Given the description of an element on the screen output the (x, y) to click on. 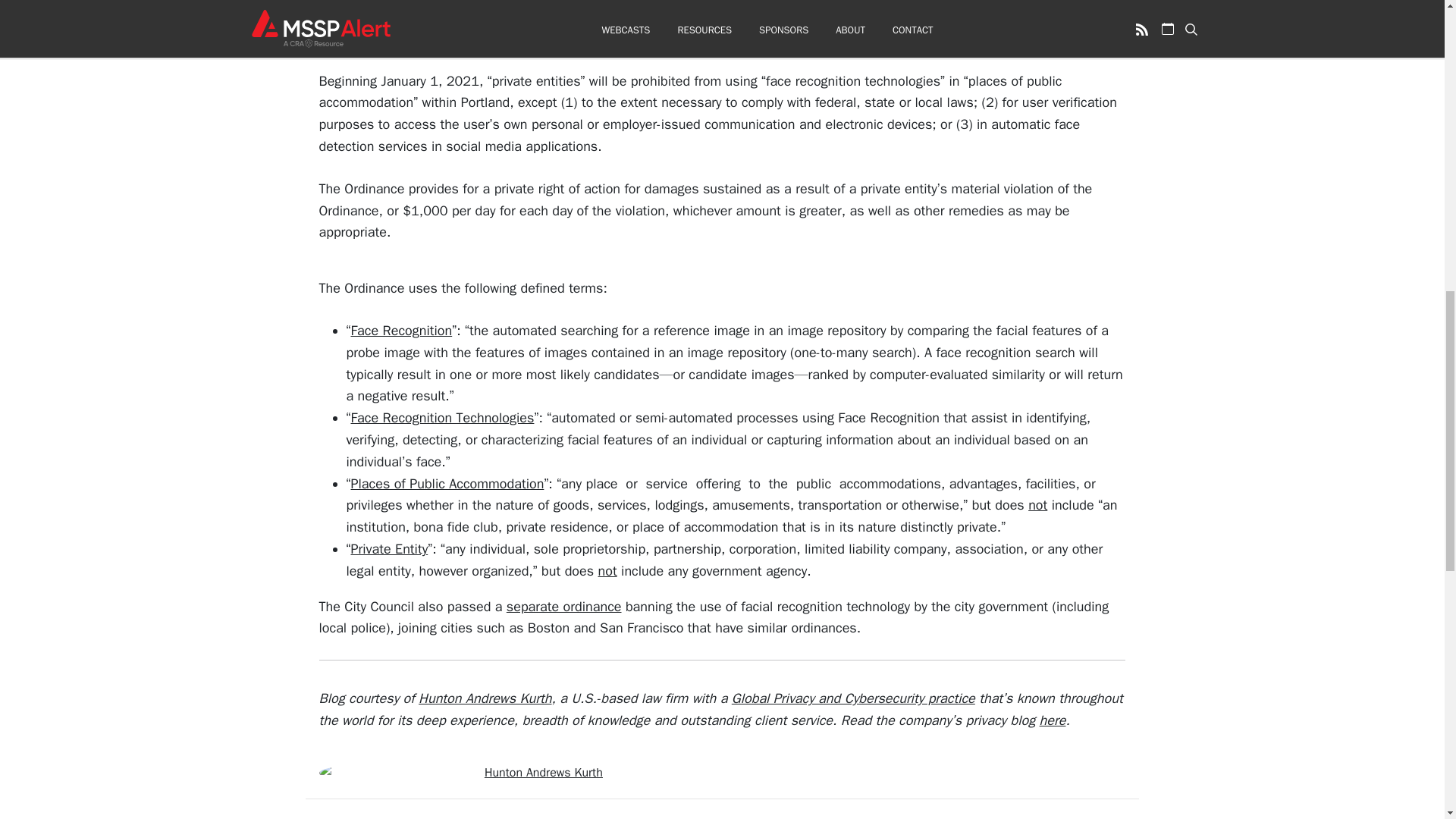
Global Privacy and Cybersecurity practice (853, 698)
here (1052, 719)
Hunton Andrews Kurth (543, 772)
separate ordinance (563, 606)
Hunton Andrews Kurth (485, 698)
